Given the description of an element on the screen output the (x, y) to click on. 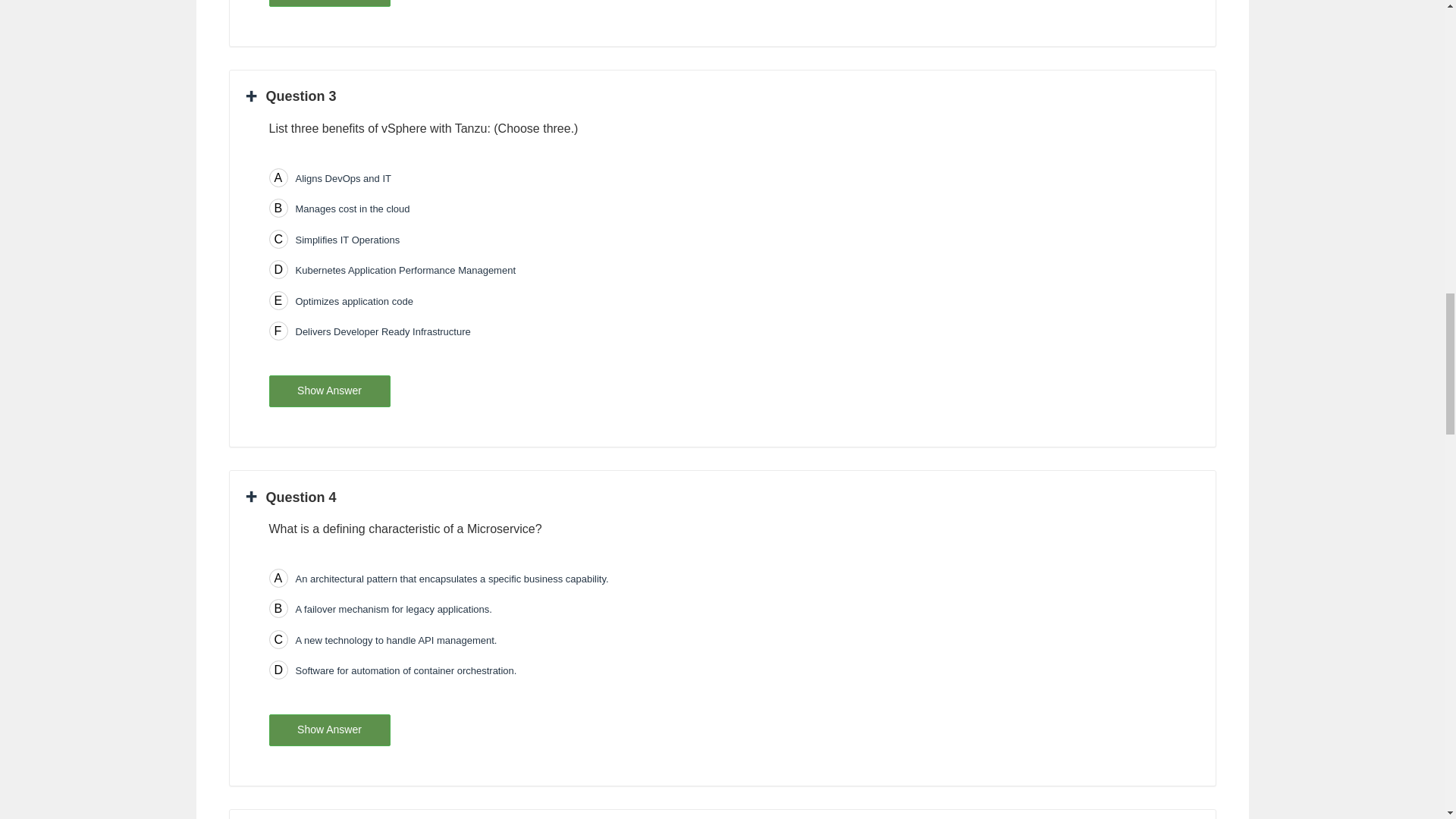
Question 4 (291, 497)
Show Answer (328, 730)
Question 3 (291, 96)
Show Answer (328, 391)
Show Answer (328, 3)
